Given the description of an element on the screen output the (x, y) to click on. 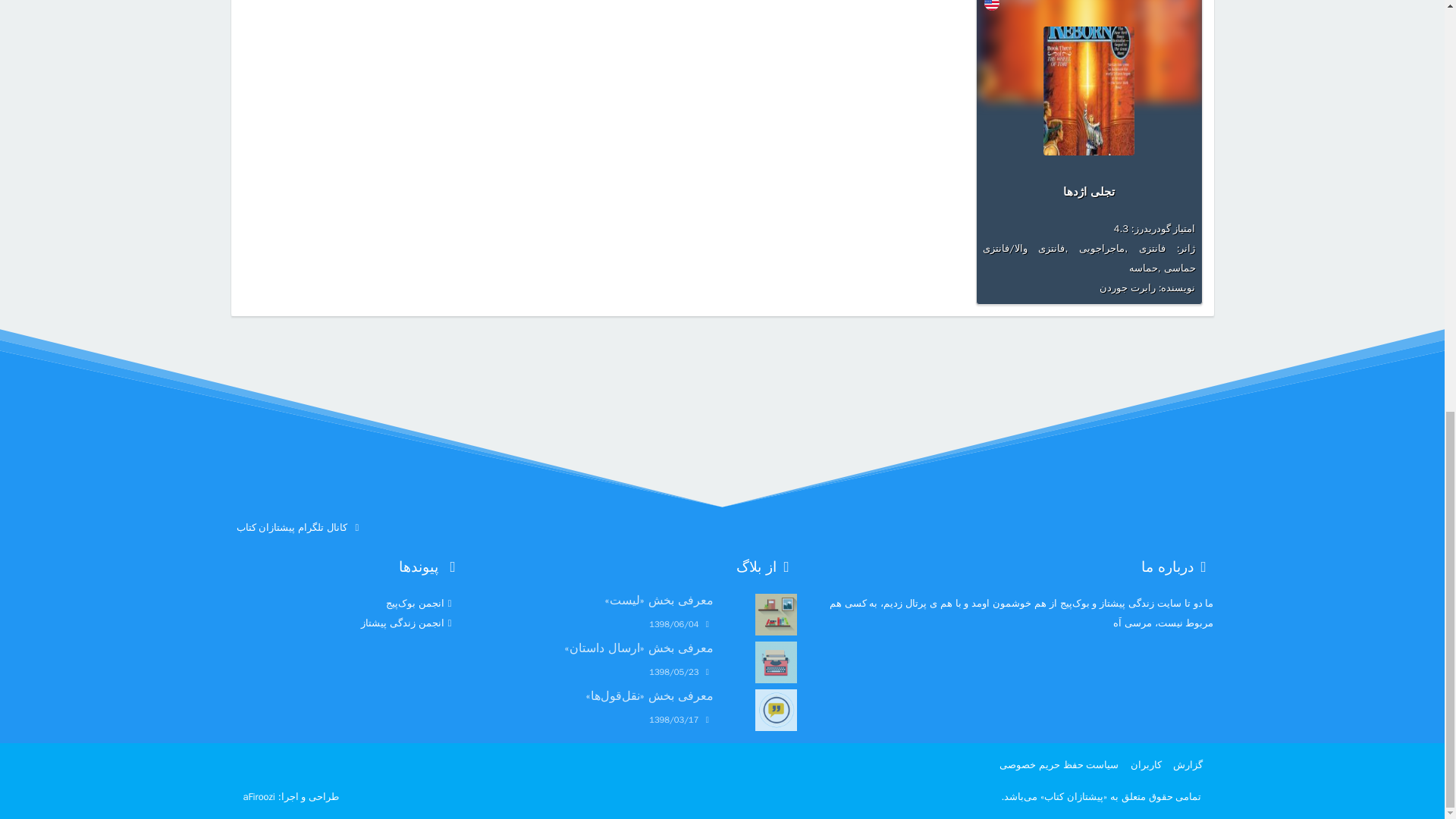
aFiroozi (259, 797)
